Given the description of an element on the screen output the (x, y) to click on. 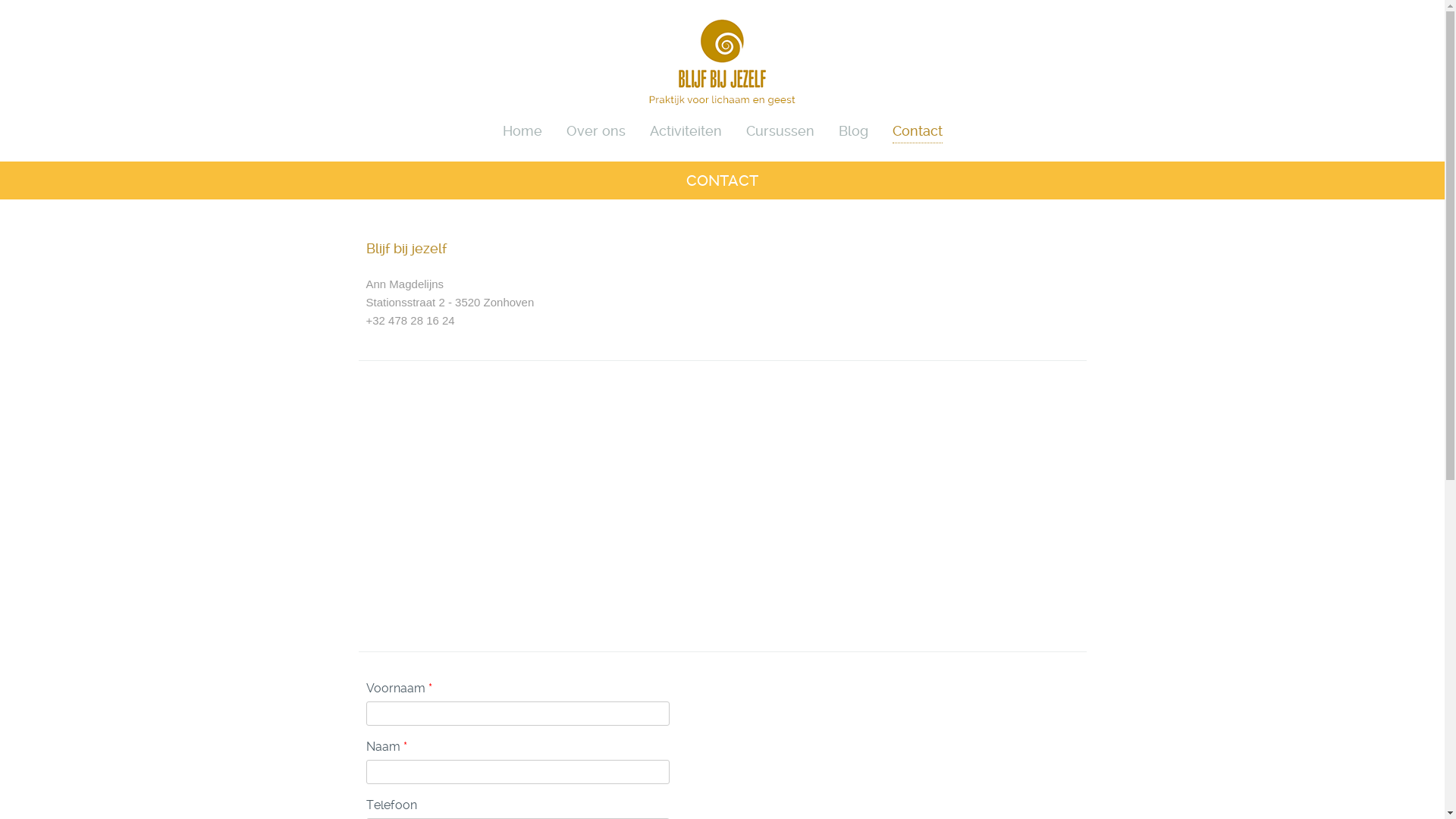
Activiteiten Element type: text (685, 129)
Blog Element type: text (853, 129)
Over ons Element type: text (594, 129)
Contact Element type: text (916, 129)
Home Element type: text (521, 129)
Cursussen Element type: text (780, 129)
